Given the description of an element on the screen output the (x, y) to click on. 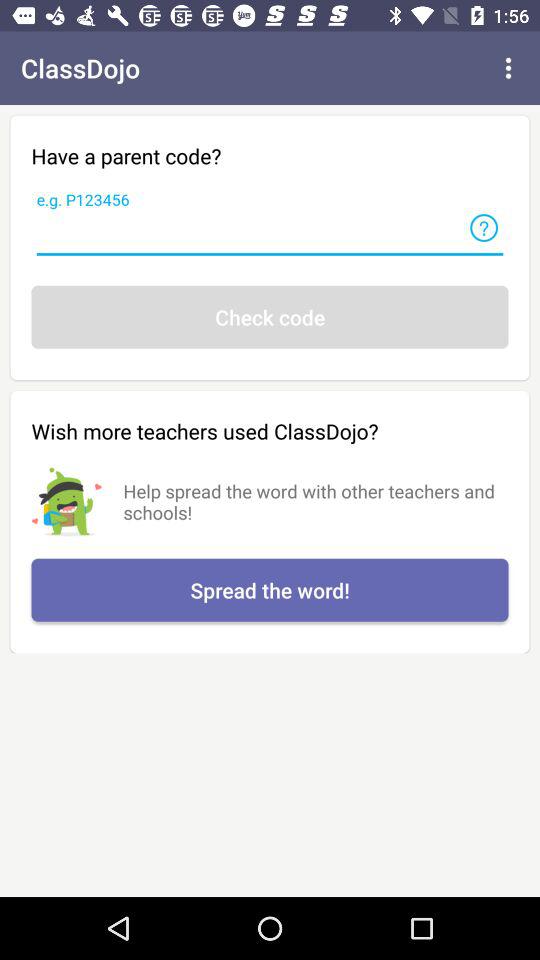
password page (269, 234)
